Given the description of an element on the screen output the (x, y) to click on. 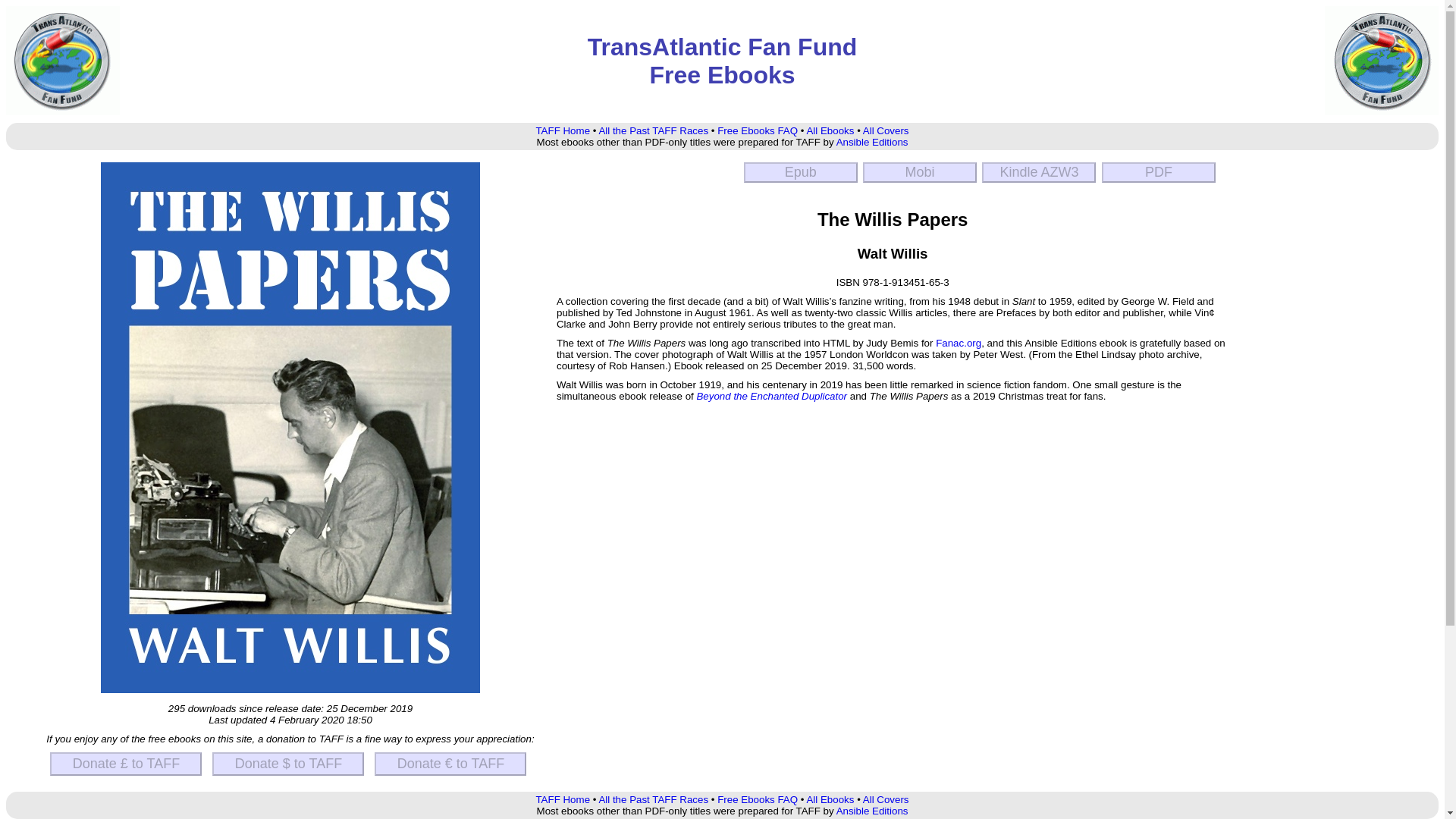
Free Ebooks FAQ (757, 799)
Kindle AZW3 (1038, 172)
Ansible Editions (871, 142)
Free Ebooks FAQ (757, 130)
Mobi (919, 172)
Updated 18 December 2019 17:14 (800, 172)
Updated 18 December 2019 17:14 (919, 172)
Updated 18 December 2019 17:14 (1038, 172)
Epub (800, 172)
Send Euro to the European TAFF administrator (449, 763)
